Given the description of an element on the screen output the (x, y) to click on. 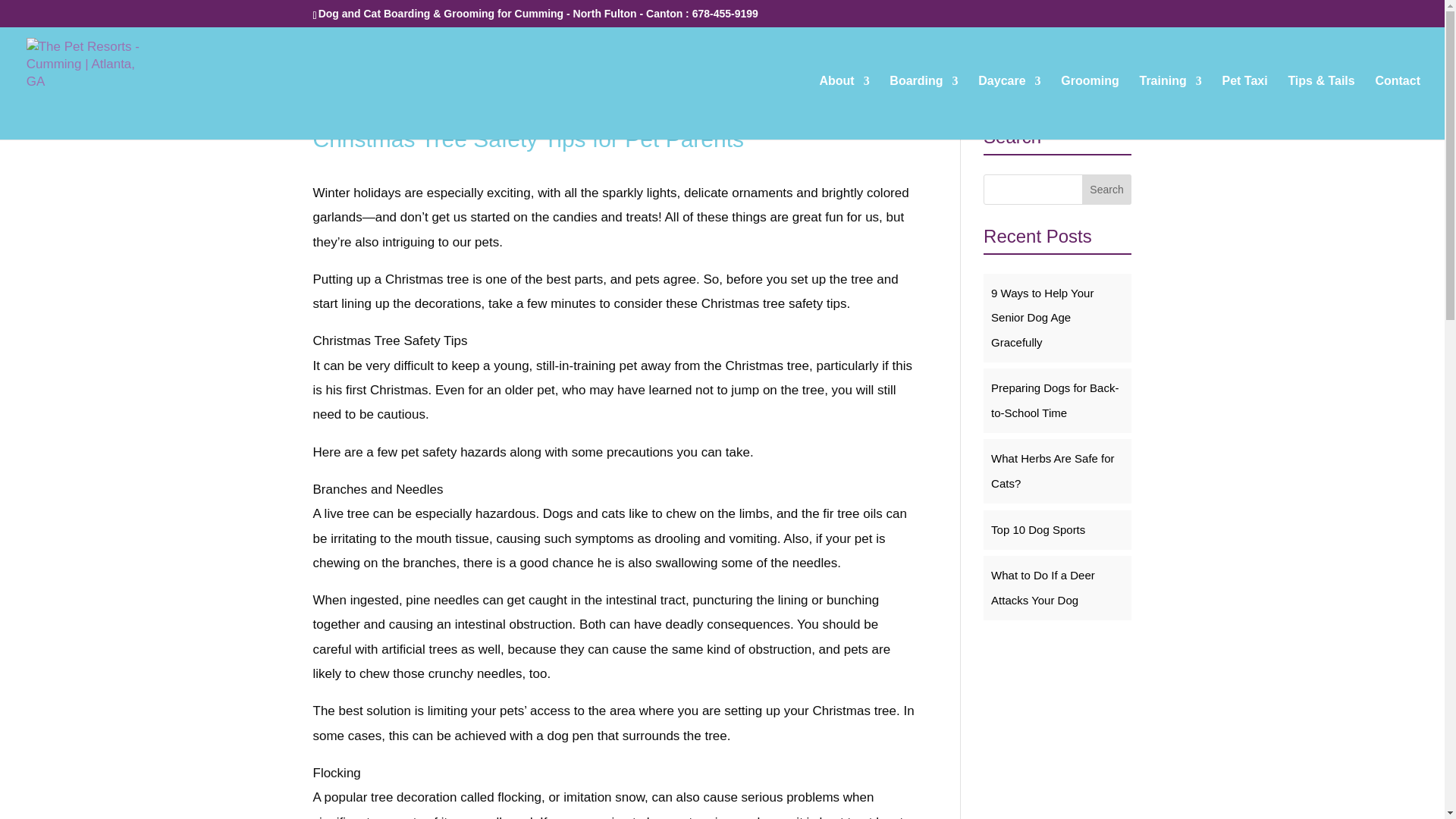
Grooming (1089, 107)
What to Do If a Deer Attacks Your Dog (1042, 587)
Search (1106, 189)
Top 10 Dog Sports (1037, 529)
What Herbs Are Safe for Cats? (1053, 470)
Search (1106, 189)
Preparing Dogs for Back-to-School Time (1054, 399)
9 Ways to Help Your Senior Dog Age Gracefully (1042, 317)
Training (1169, 107)
Boarding (923, 107)
